Given the description of an element on the screen output the (x, y) to click on. 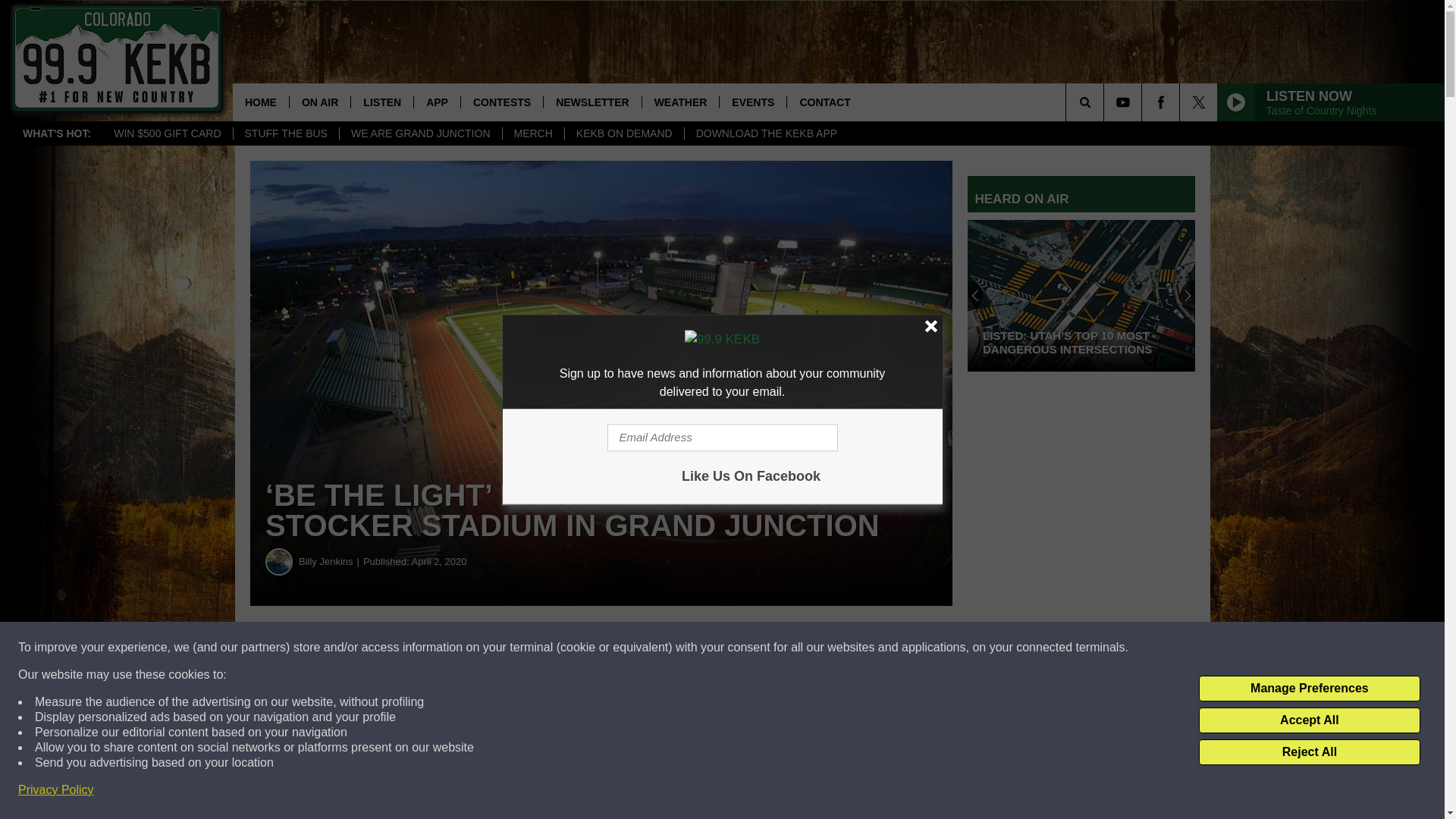
Accept All (1309, 720)
CONTESTS (501, 102)
STUFF THE BUS (284, 133)
LISTEN (381, 102)
SEARCH (1106, 102)
MERCH (533, 133)
Share on Twitter (741, 647)
Manage Preferences (1309, 688)
KEKB ON DEMAND (624, 133)
APP (436, 102)
WHAT'S HOT: (56, 133)
Privacy Policy (55, 789)
WE ARE GRAND JUNCTION (420, 133)
ON AIR (319, 102)
Share on Facebook (460, 647)
